Given the description of an element on the screen output the (x, y) to click on. 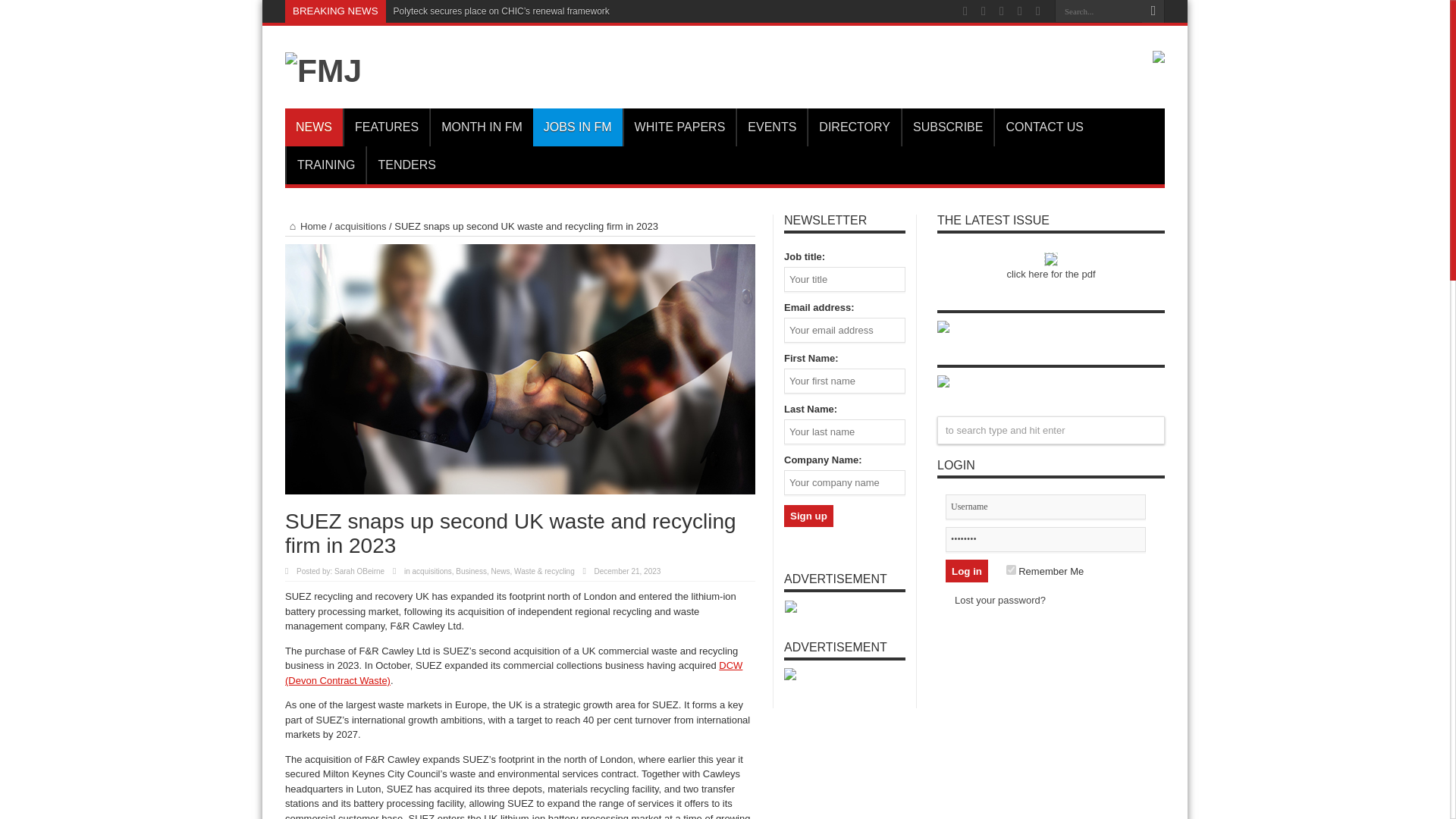
acquisitions (360, 225)
forever (1011, 569)
NEWS (313, 127)
CONTACT US (1044, 127)
EVENTS (771, 127)
Sign up (808, 516)
Password (1044, 539)
SUBSCRIBE (946, 127)
FEATURES (386, 127)
WHITE PAPERS (679, 127)
